Given the description of an element on the screen output the (x, y) to click on. 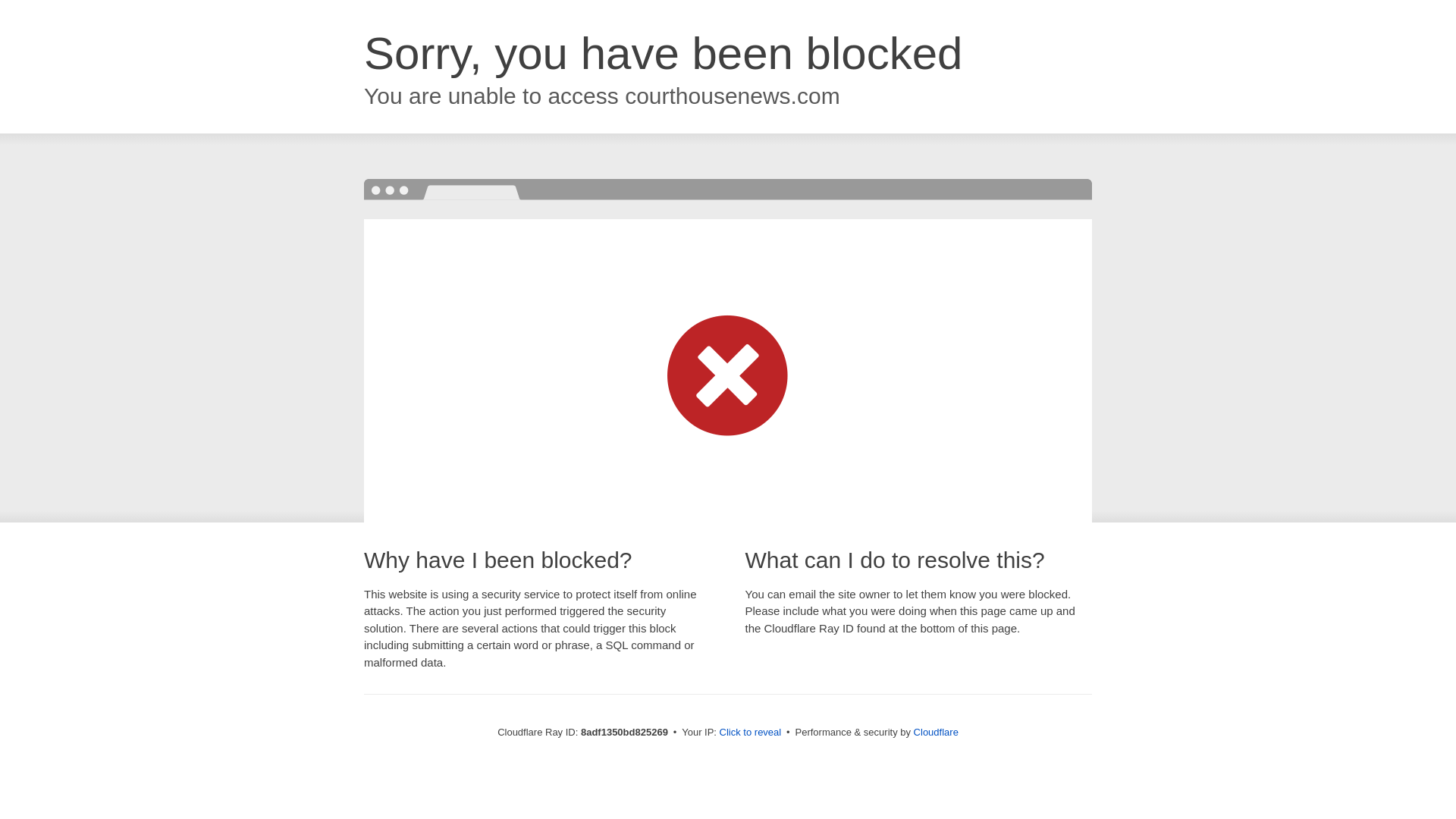
Cloudflare (936, 731)
Click to reveal (750, 732)
